Given the description of an element on the screen output the (x, y) to click on. 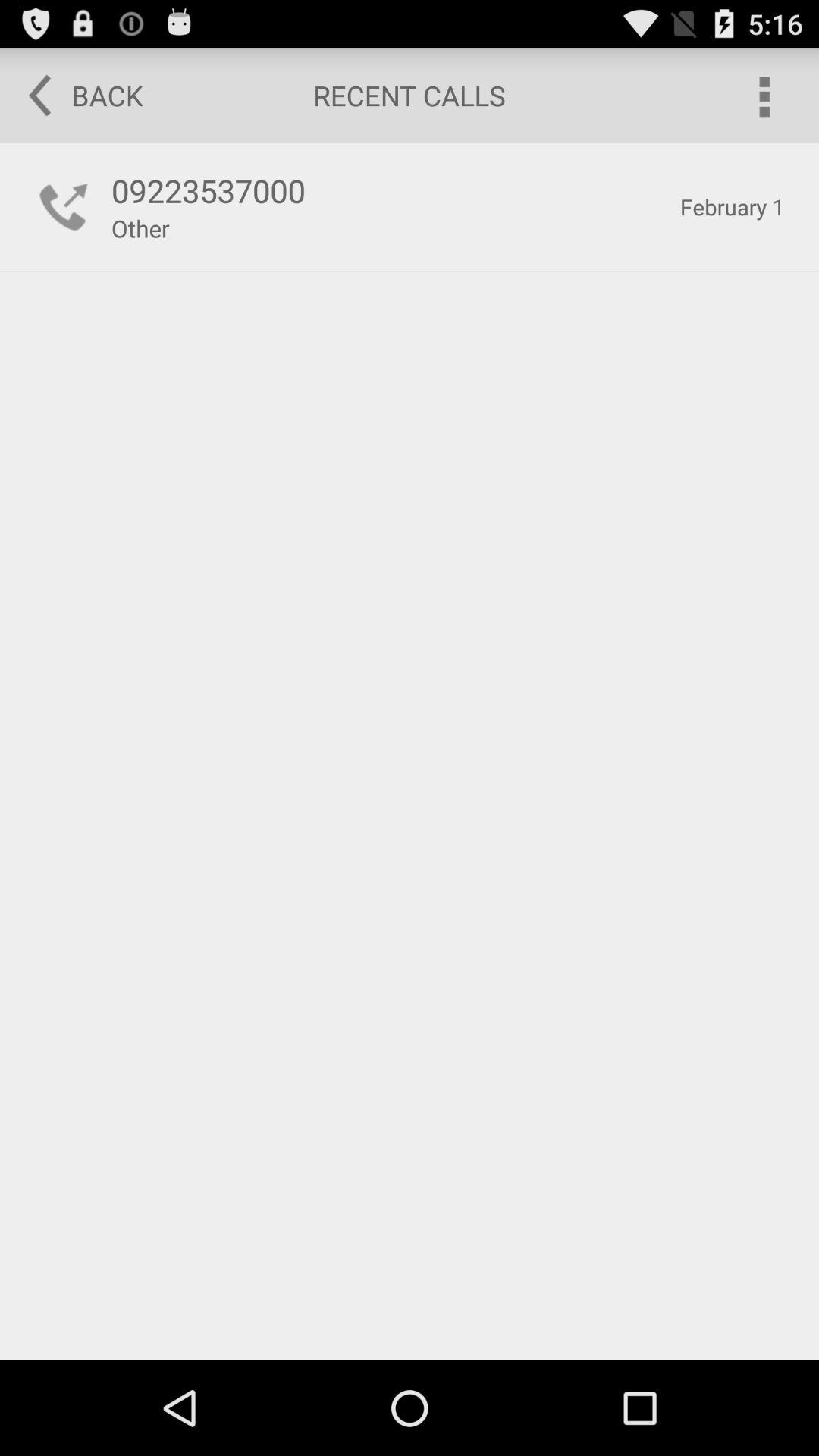
flip to other icon (140, 228)
